Given the description of an element on the screen output the (x, y) to click on. 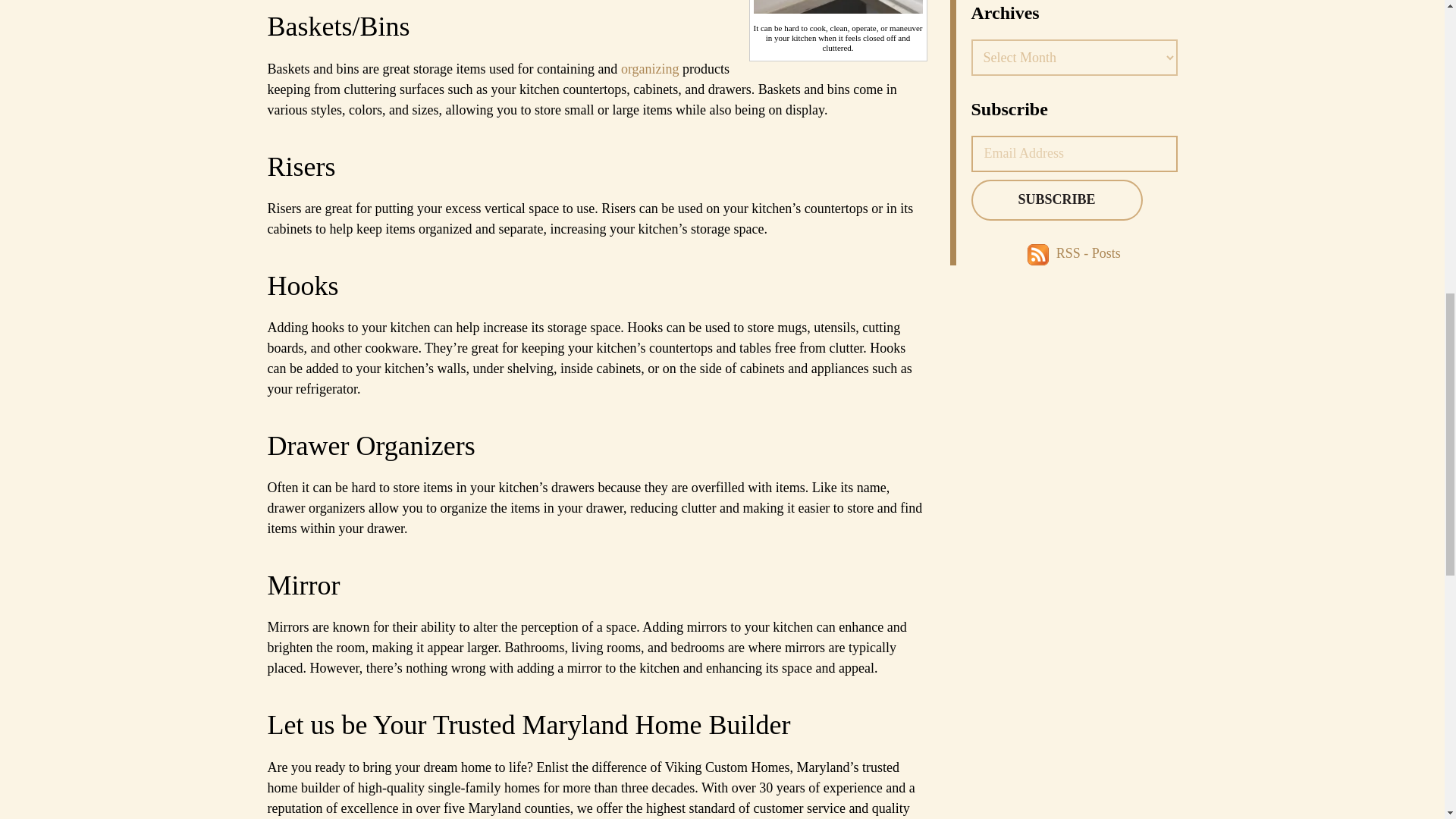
organizing (650, 68)
Subscribe (1056, 199)
Subscribe to Posts (1039, 253)
Subscribe to Posts (1089, 253)
